Given the description of an element on the screen output the (x, y) to click on. 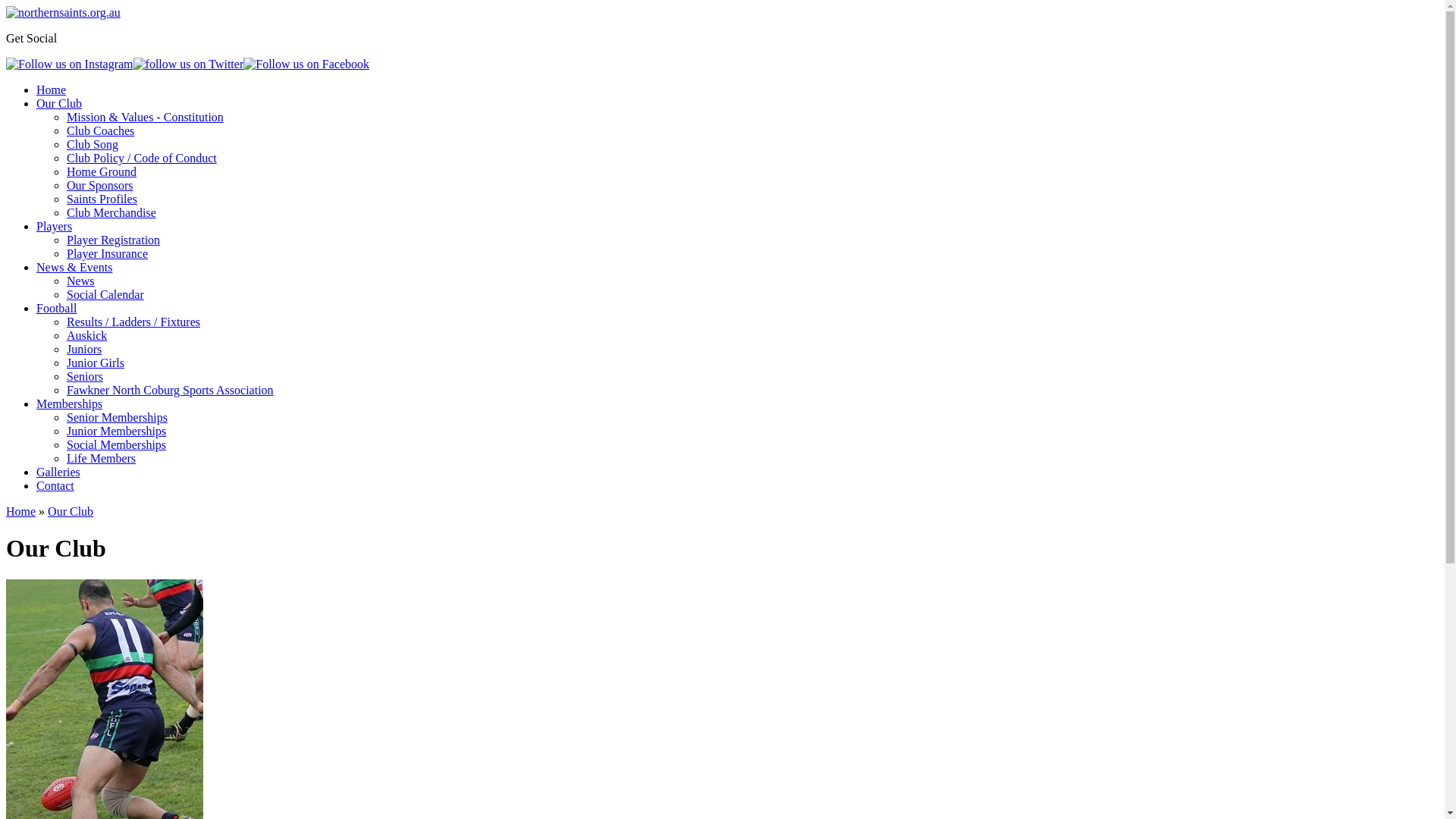
Player Registration Element type: text (113, 239)
Junior Girls Element type: text (95, 362)
Club Coaches Element type: text (100, 130)
Club Policy / Code of Conduct Element type: text (141, 157)
Club Merchandise Element type: text (111, 212)
Social Memberships Element type: text (116, 444)
Club Song Element type: text (92, 144)
Players Element type: text (54, 225)
Our Sponsors Element type: text (99, 184)
Memberships Element type: text (69, 403)
News & Events Element type: text (74, 266)
Contact Element type: text (55, 485)
Results / Ladders / Fixtures Element type: text (133, 321)
Saints Profiles Element type: text (101, 198)
Junior Memberships Element type: text (116, 430)
Home Element type: text (20, 511)
Home Ground Element type: text (101, 171)
Home Element type: text (50, 89)
Football Element type: text (56, 307)
Senior Memberships Element type: text (116, 417)
News Element type: text (80, 280)
Seniors Element type: text (84, 376)
Our Club Element type: text (58, 103)
Juniors Element type: text (83, 348)
Social Calendar Element type: text (105, 294)
Player Insurance Element type: text (106, 253)
Galleries Element type: text (58, 471)
Auskick Element type: text (86, 335)
Fawkner North Coburg Sports Association Element type: text (169, 389)
Mission & Values - Constitution Element type: text (144, 116)
Our Club Element type: text (70, 511)
Life Members Element type: text (100, 457)
